Given the description of an element on the screen output the (x, y) to click on. 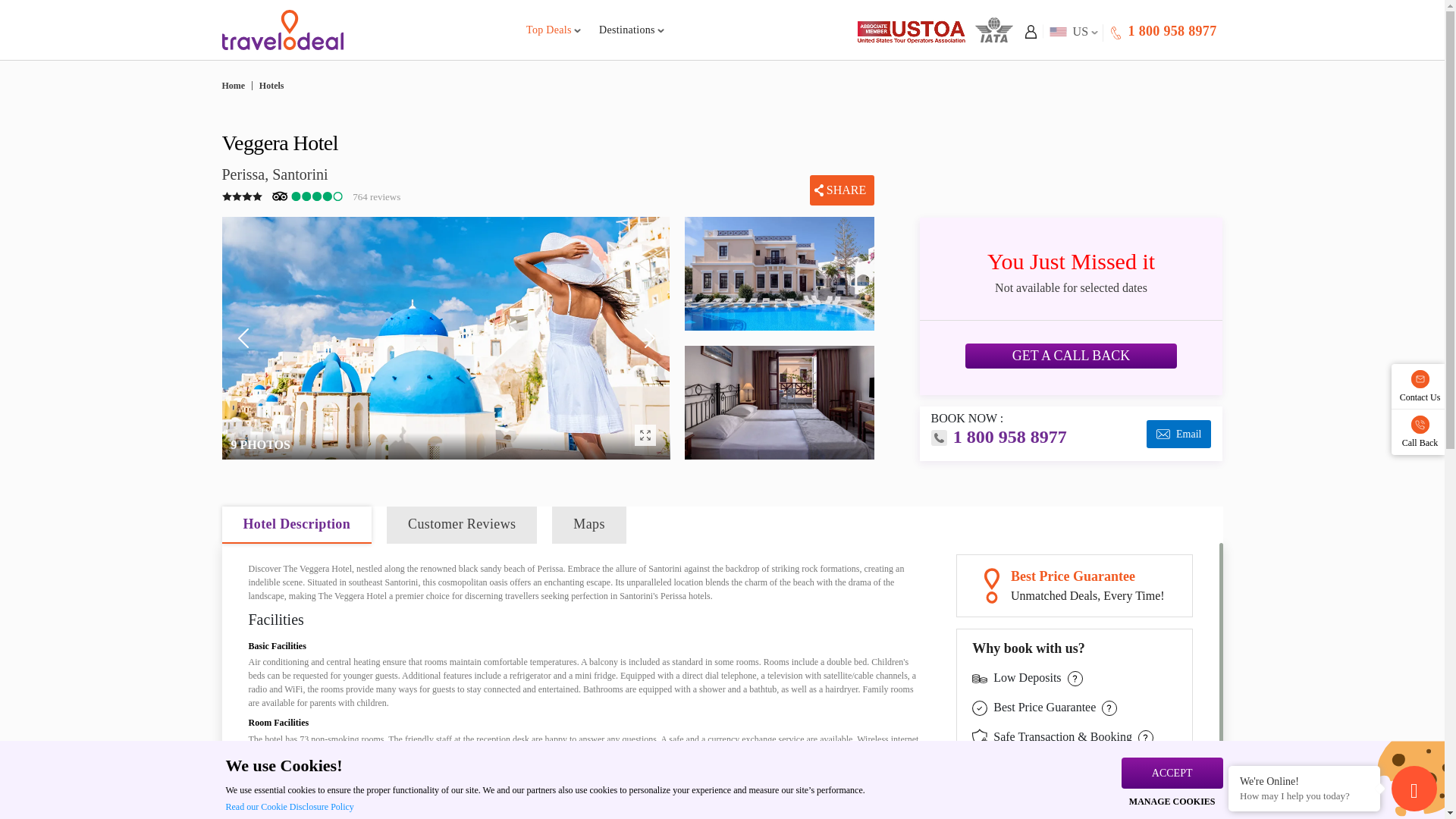
1 800 958 8977 (1161, 31)
Destinations (630, 29)
We're Online! (1304, 780)
US (1070, 31)
How may I help you today? (1304, 796)
Top Deals (552, 29)
GET A CALL BACK (1174, 30)
